Given the description of an element on the screen output the (x, y) to click on. 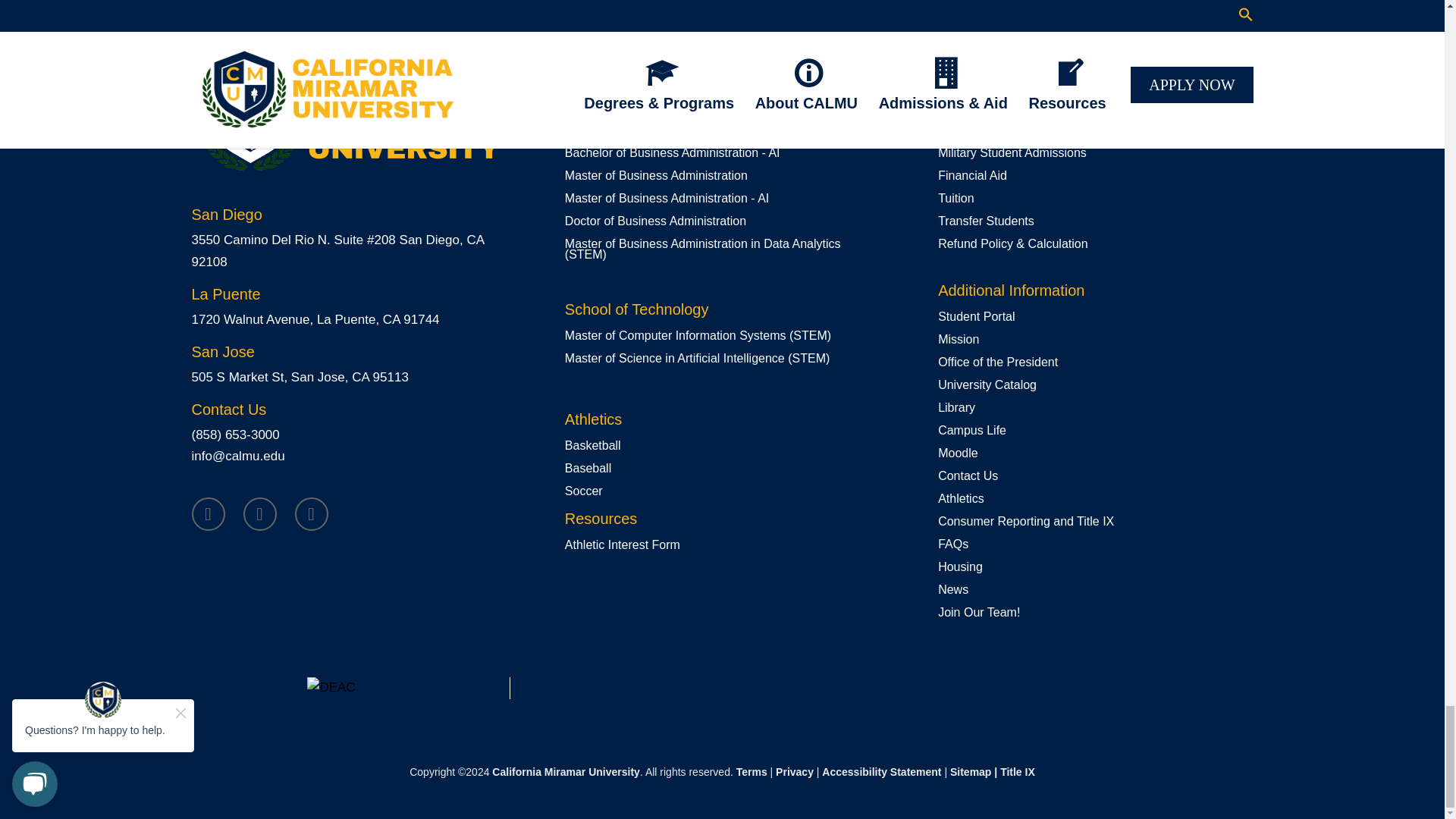
CMU LOGO (347, 125)
